Given the description of an element on the screen output the (x, y) to click on. 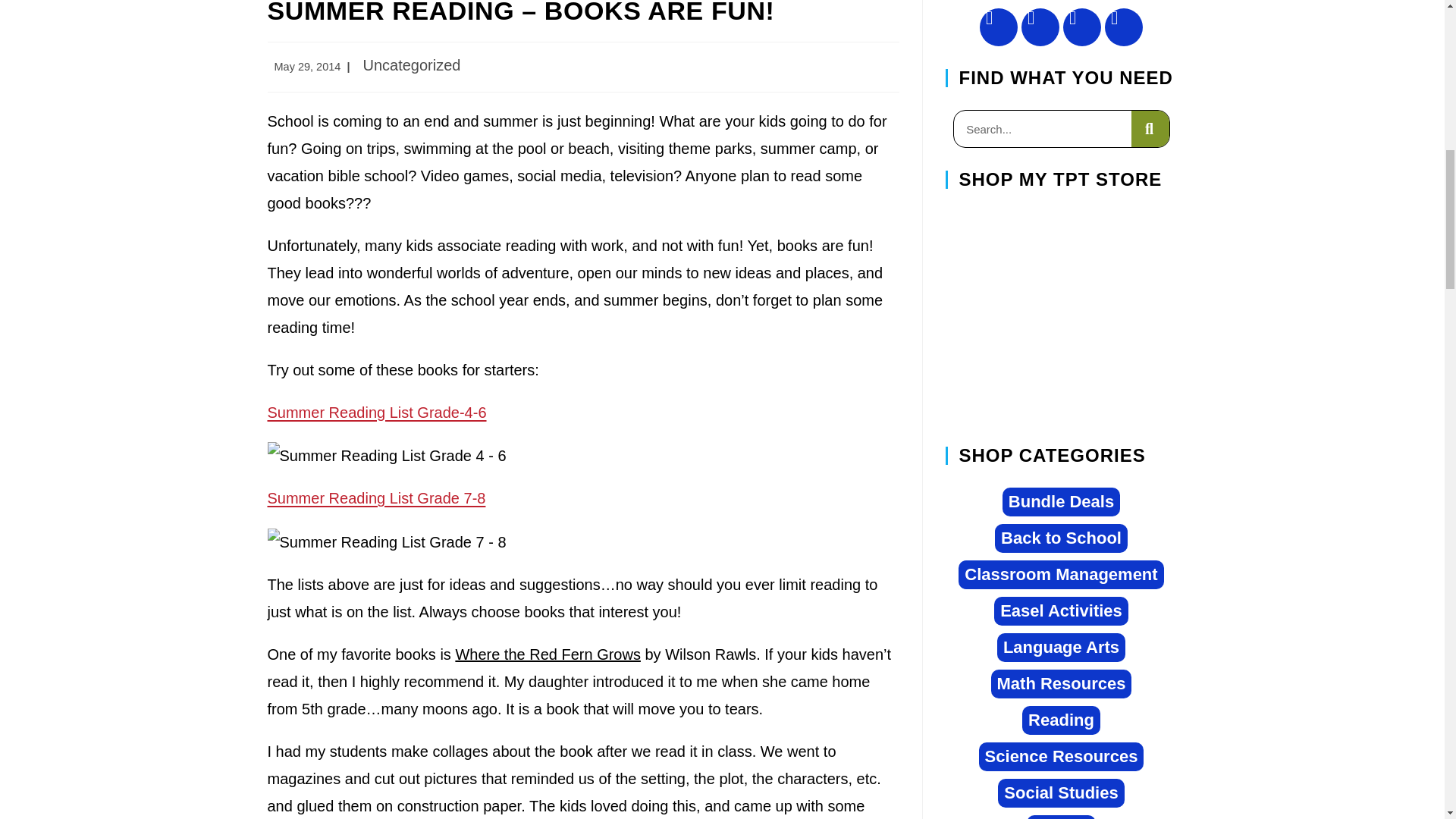
Summer Reading - Books Are Fun! 4 (385, 542)
Summer Reading List Grade 7-8 (375, 497)
Uncategorized (411, 64)
Summer Reading - Books Are Fun! 2 (385, 455)
Summer Reading List Grade-4-6 (376, 412)
